Given the description of an element on the screen output the (x, y) to click on. 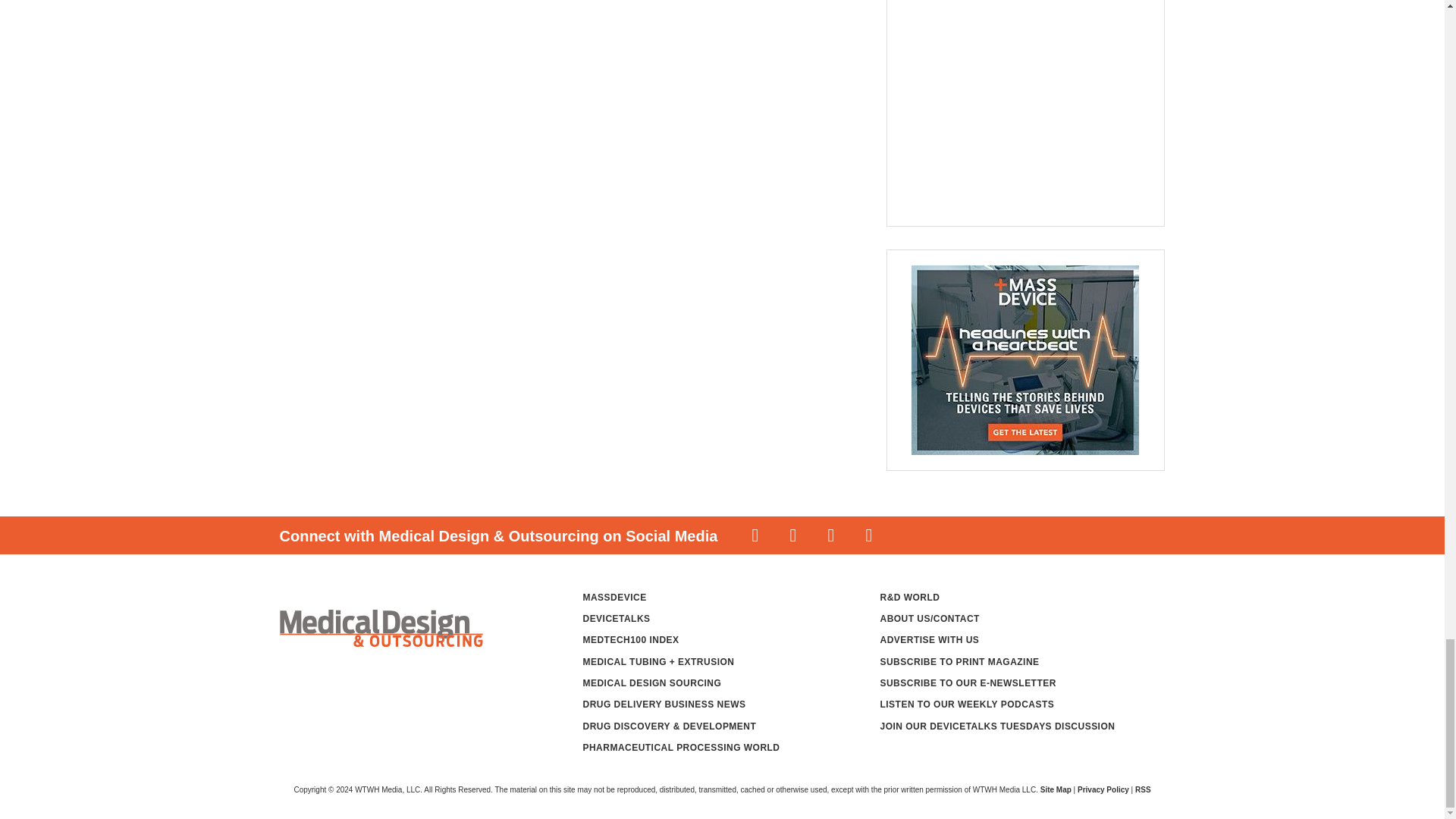
3rd party ad content (1015, 104)
